Given the description of an element on the screen output the (x, y) to click on. 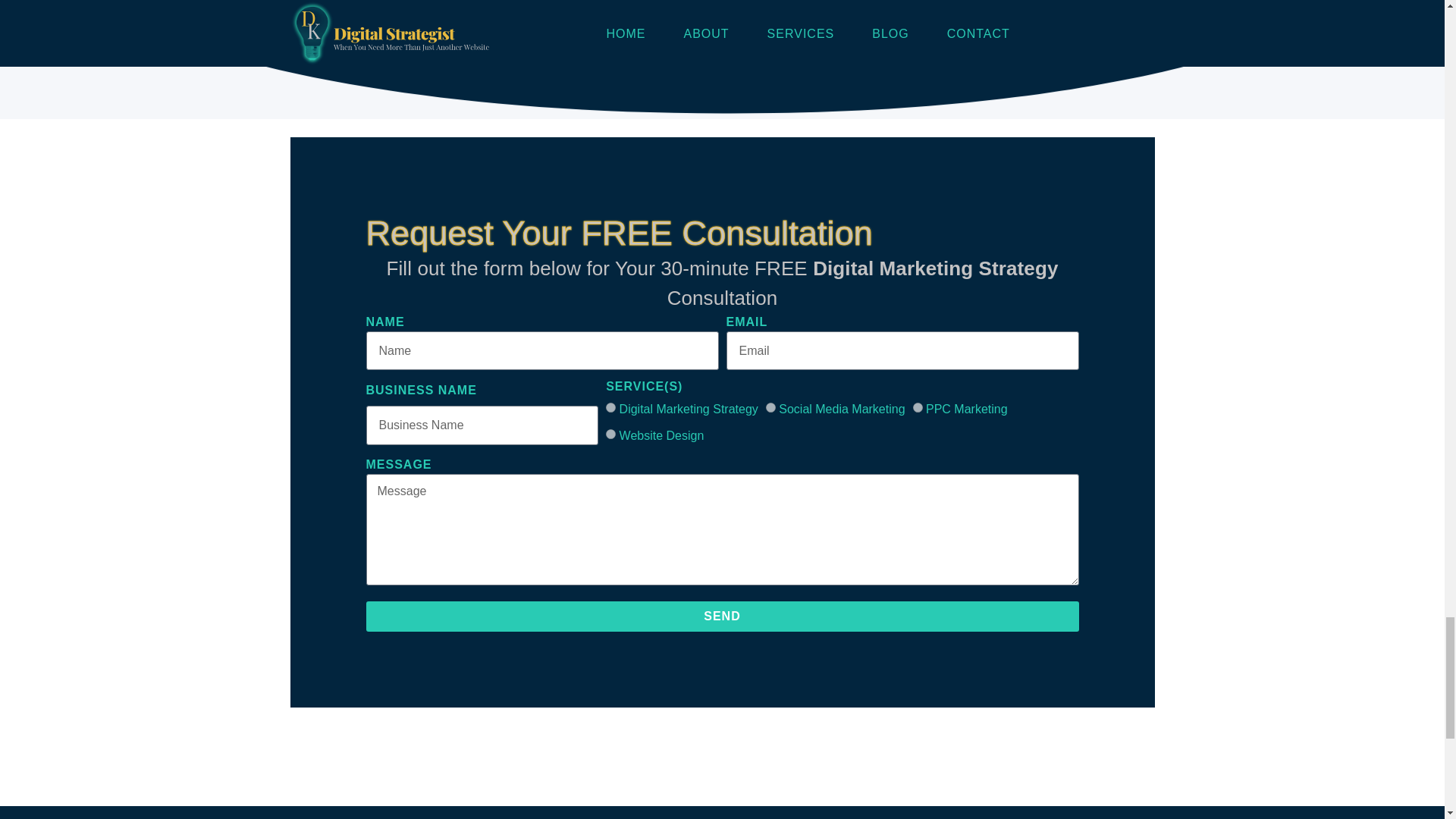
Social Media Marketing (770, 407)
PPC Marketing (917, 407)
Website Design (610, 433)
Digital Marketing Strategy (610, 407)
